Given the description of an element on the screen output the (x, y) to click on. 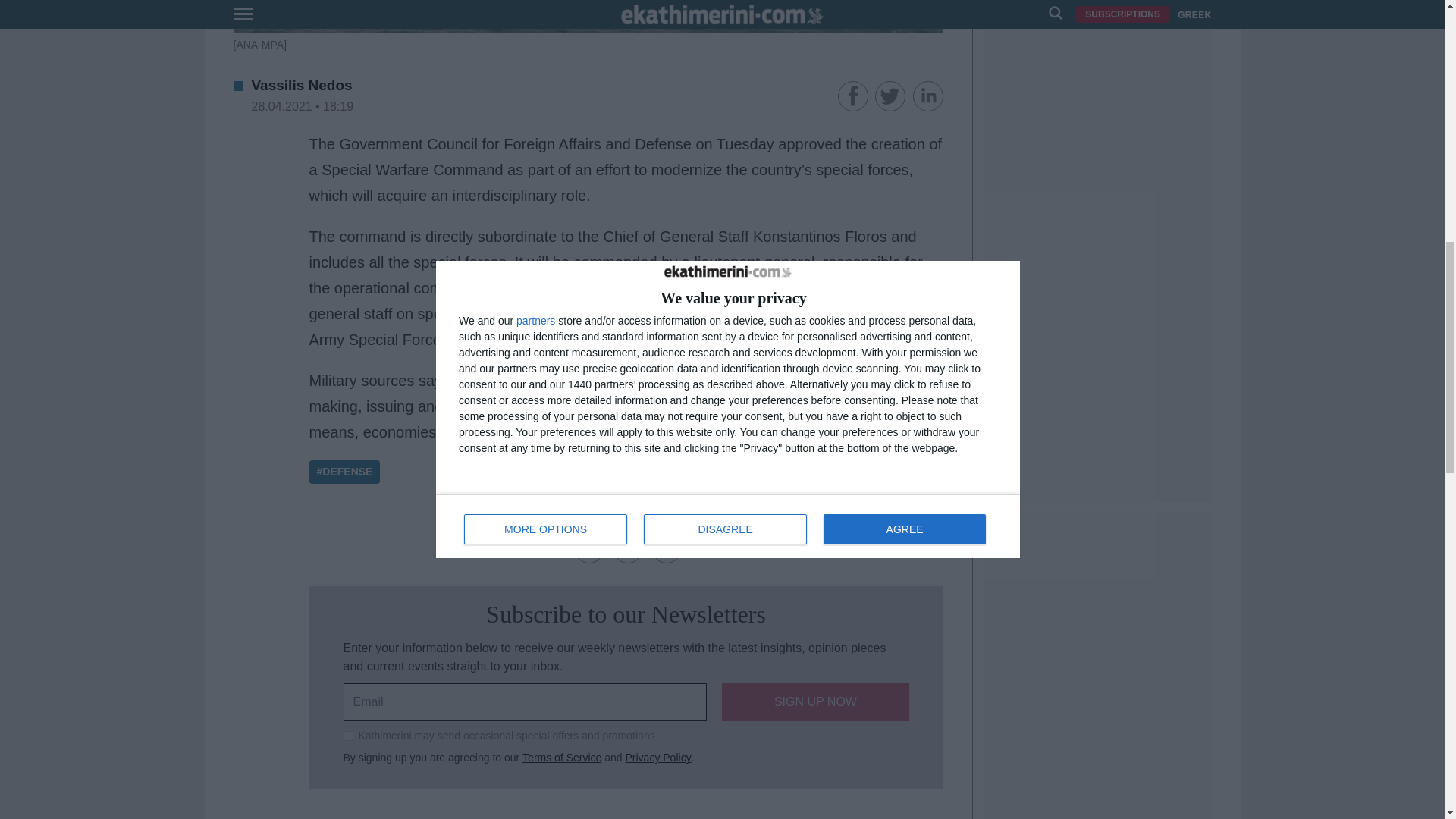
View all posts by Vassilis Nedos (301, 84)
on (347, 736)
